Given the description of an element on the screen output the (x, y) to click on. 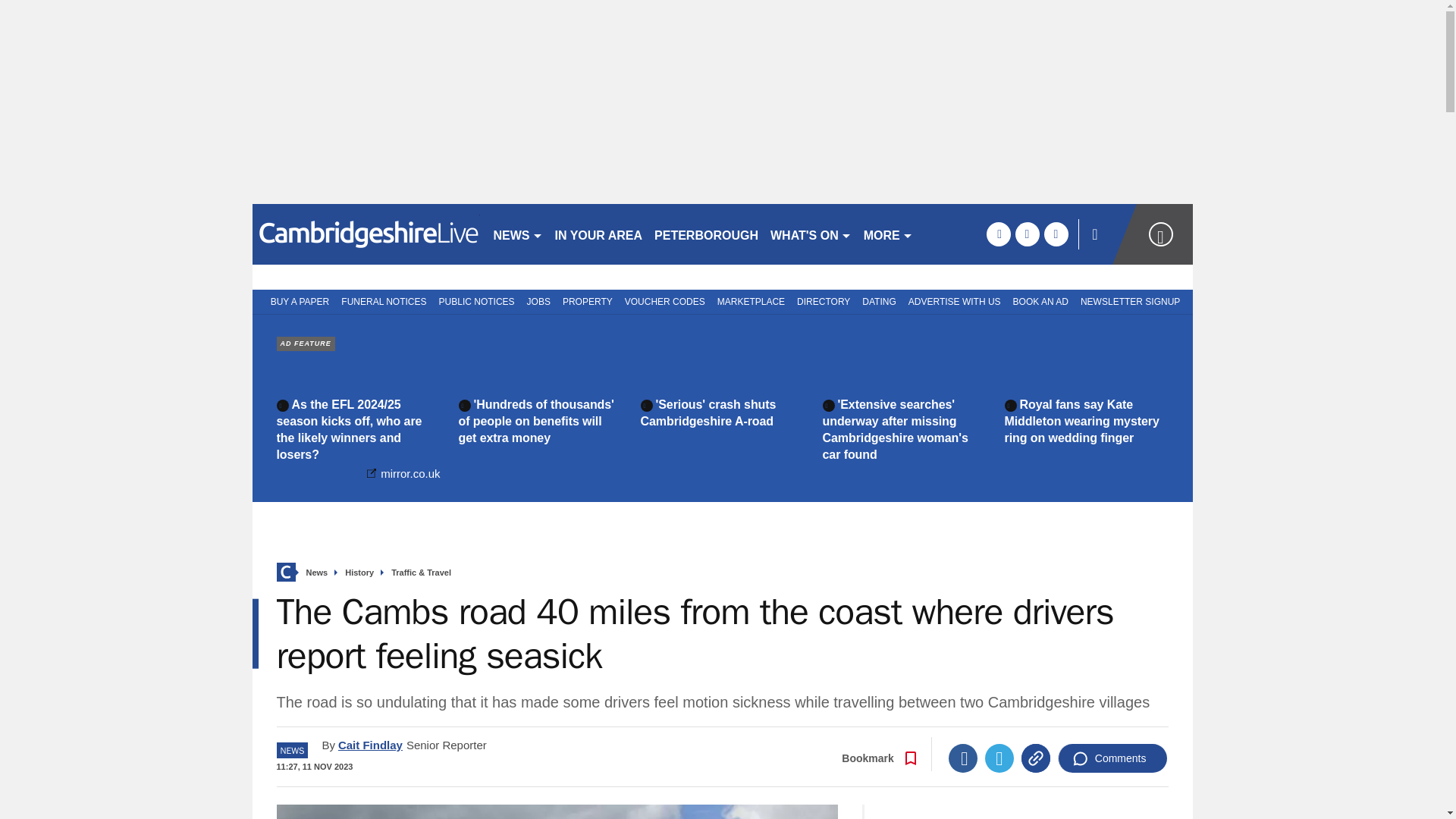
WHAT'S ON (810, 233)
twitter (1026, 233)
Comments (1112, 758)
IN YOUR AREA (598, 233)
Twitter (999, 758)
MORE (887, 233)
instagram (1055, 233)
NEWS (517, 233)
cambridgenews (365, 233)
facebook (997, 233)
